Given the description of an element on the screen output the (x, y) to click on. 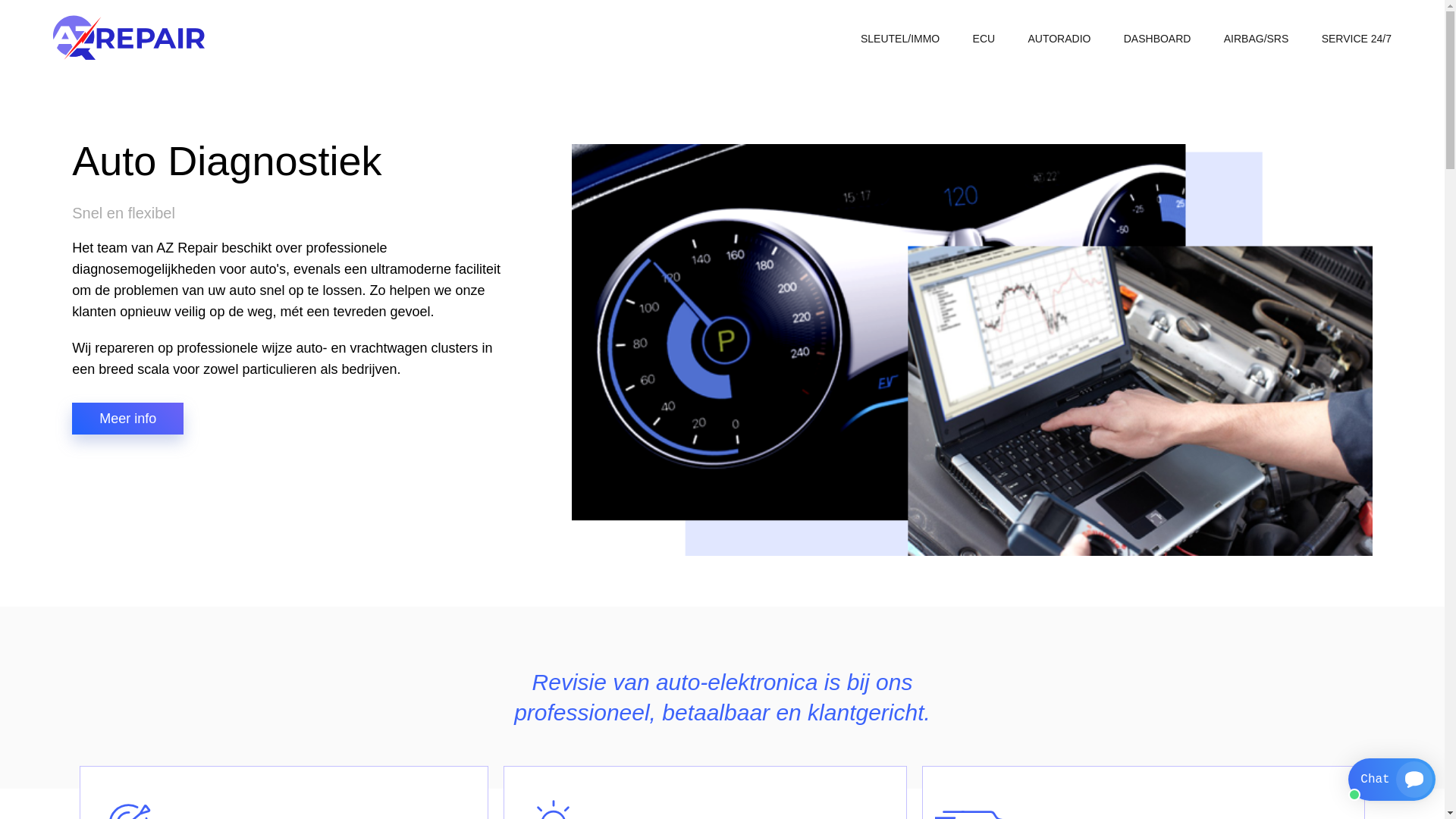
SERVICE 24/7 Element type: text (1356, 30)
SLEUTEL/IMMO Element type: text (899, 30)
Meer info Element type: text (127, 418)
ECU Element type: text (983, 30)
AUTORADIO Element type: text (1058, 30)
DASHBOARD Element type: text (1157, 30)
AIRBAG/SRS Element type: text (1256, 30)
Smartsupp widget button Element type: hover (1391, 779)
